Given the description of an element on the screen output the (x, y) to click on. 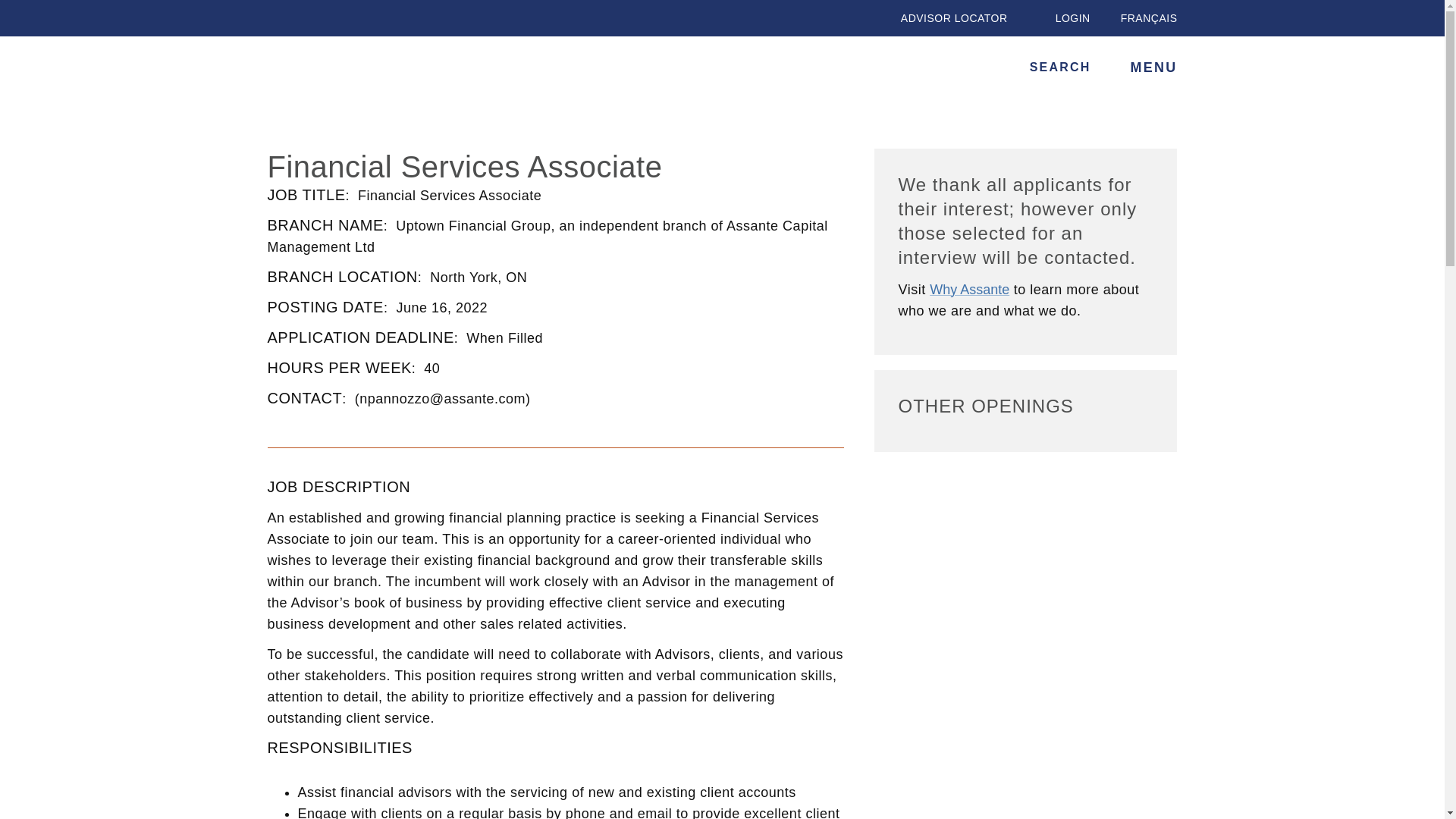
LOGIN (1064, 18)
ADVISOR LOCATOR (945, 18)
MENU (1149, 67)
CI Assante Wealth Management Logo (321, 69)
Why Assante (969, 289)
LOGIN (1064, 18)
CI Assante Wealth Management Logo (333, 70)
CI Assante Wealth Management Logo (321, 69)
SEARCH (1049, 66)
SEARCH (1049, 66)
ADVISOR LOCATOR (945, 18)
Assante Advantag (969, 289)
MENU (1149, 67)
